Given the description of an element on the screen output the (x, y) to click on. 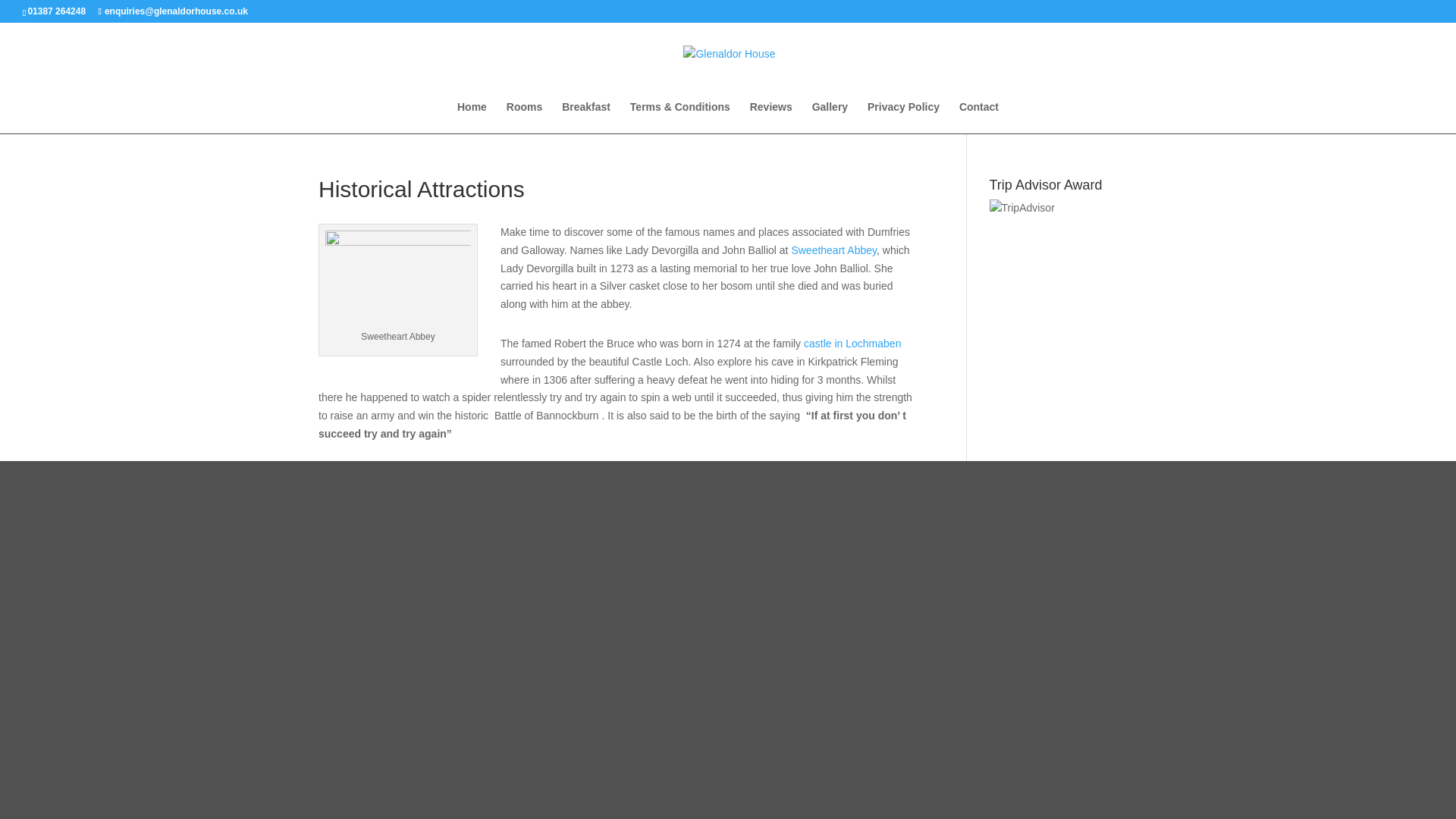
Privacy Policy (903, 117)
Contact (978, 117)
Gallery (829, 117)
Home (471, 117)
Rooms (523, 117)
Reviews (770, 117)
Breakfast (586, 117)
castle in Lochmaben (852, 343)
Sweetheart Abbey (833, 250)
historical-attractions-dumfries (397, 279)
